Given the description of an element on the screen output the (x, y) to click on. 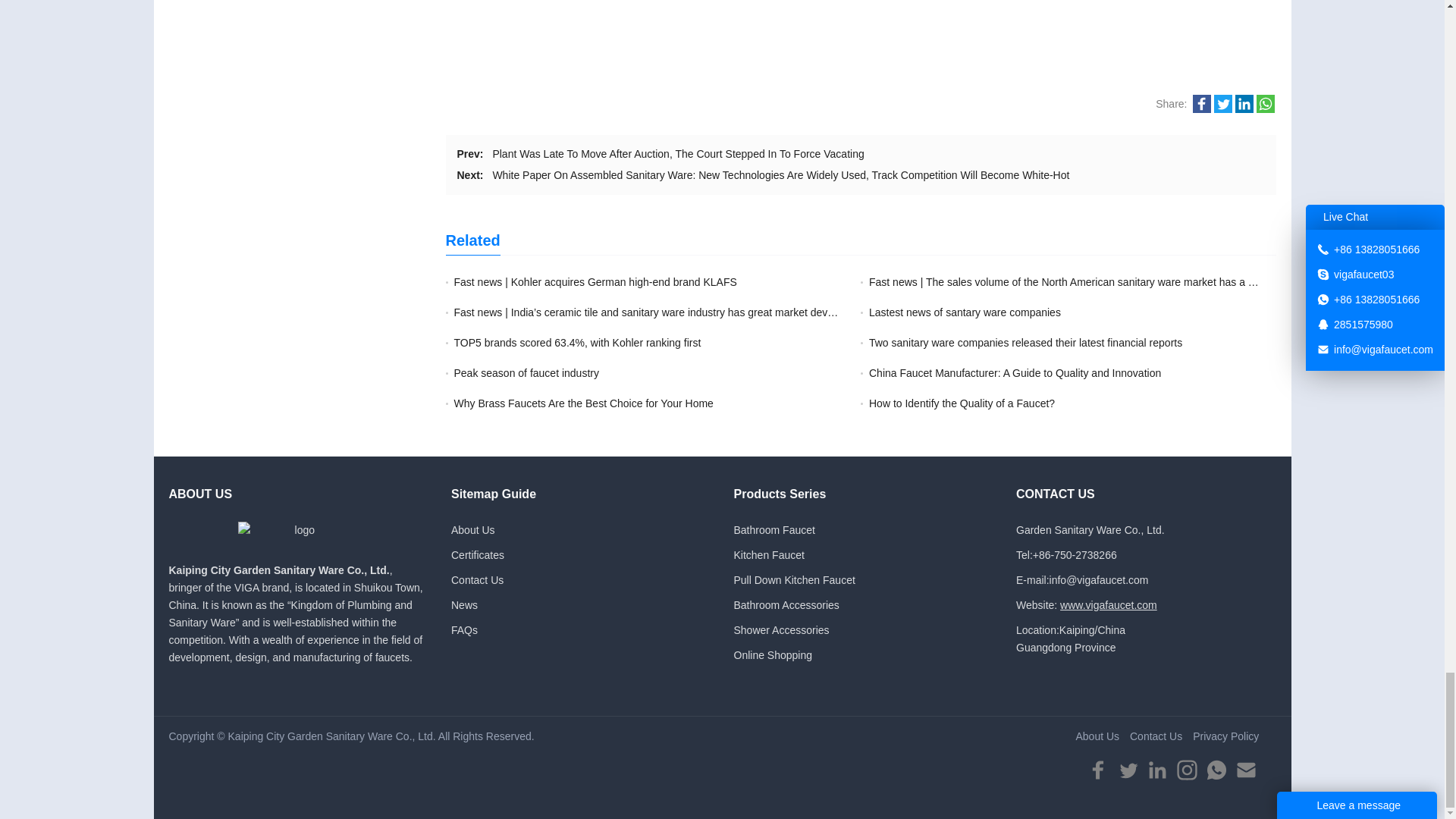
LinkedIn (1243, 104)
Twitter (1221, 104)
China Faucet Manufacturer: A Guide to Quality and Innovation (1014, 372)
WhatsApp (1264, 104)
Peak season of faucet industry (525, 372)
Share on Twitter (1222, 109)
Facebook (1200, 104)
Lastest news of santary ware companies (965, 312)
